Given the description of an element on the screen output the (x, y) to click on. 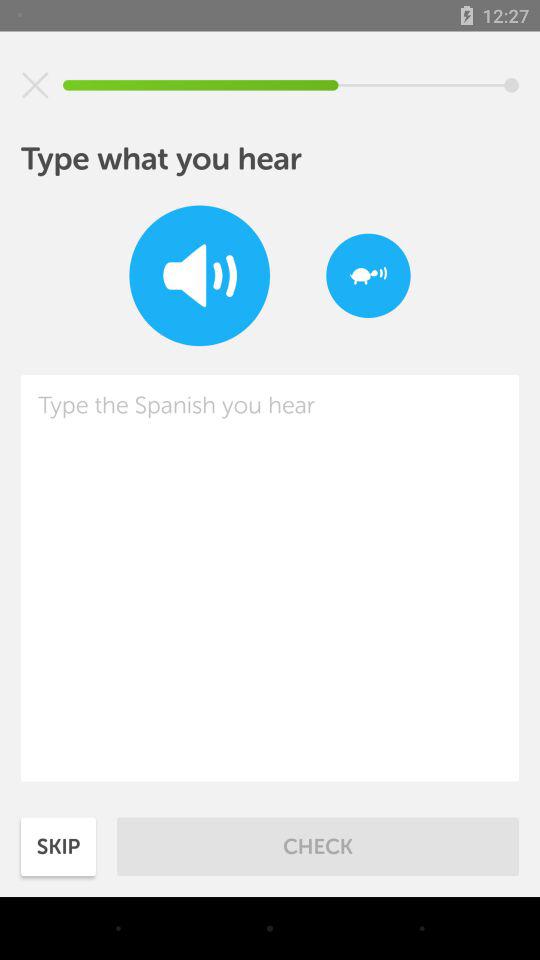
exit (35, 85)
